Given the description of an element on the screen output the (x, y) to click on. 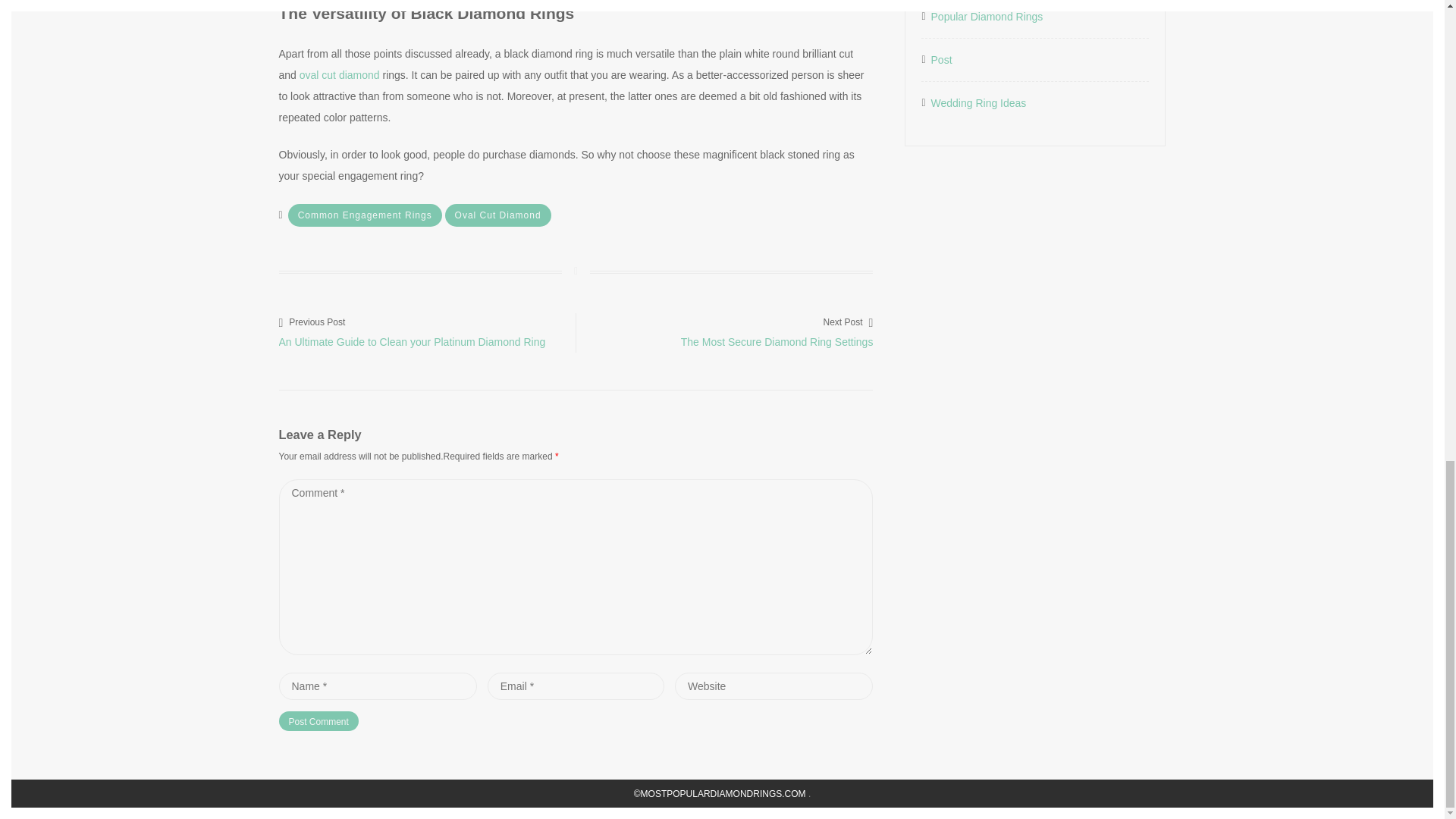
Post (941, 59)
Common Engagement Rings (365, 215)
Oval Cut Diamond (498, 215)
oval cut diamond (339, 74)
Popular Diamond Rings (987, 16)
Post Comment (724, 330)
Post Comment (318, 721)
Wedding Ring Ideas (318, 721)
